Given the description of an element on the screen output the (x, y) to click on. 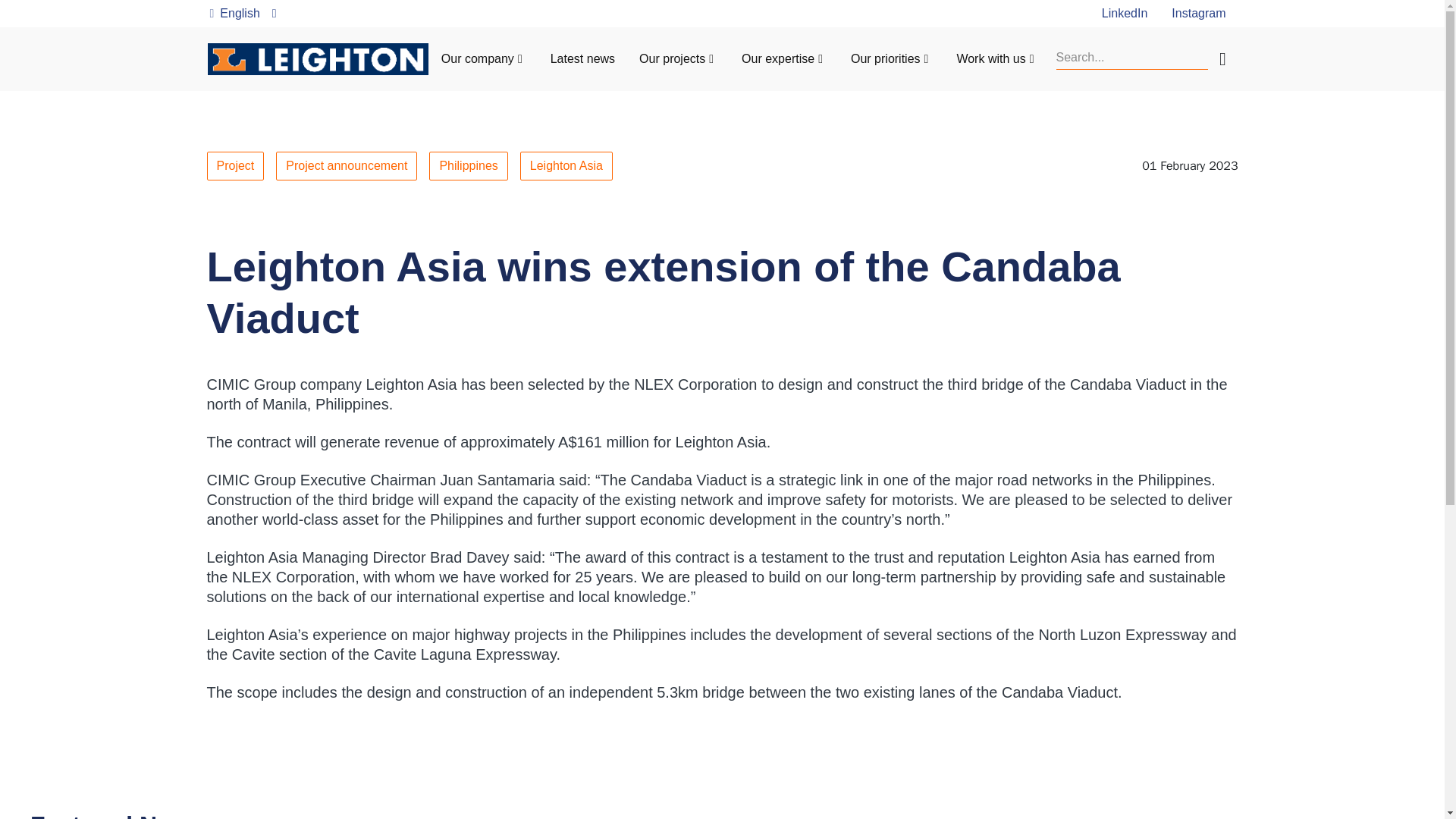
Philippines (467, 165)
Our priorities (885, 58)
Project announcement (346, 165)
Our company (477, 58)
View more (1377, 817)
LinkedIn (1124, 12)
Our expertise (777, 58)
Project (234, 165)
Work with us (990, 58)
Instagram (1197, 12)
